Given the description of an element on the screen output the (x, y) to click on. 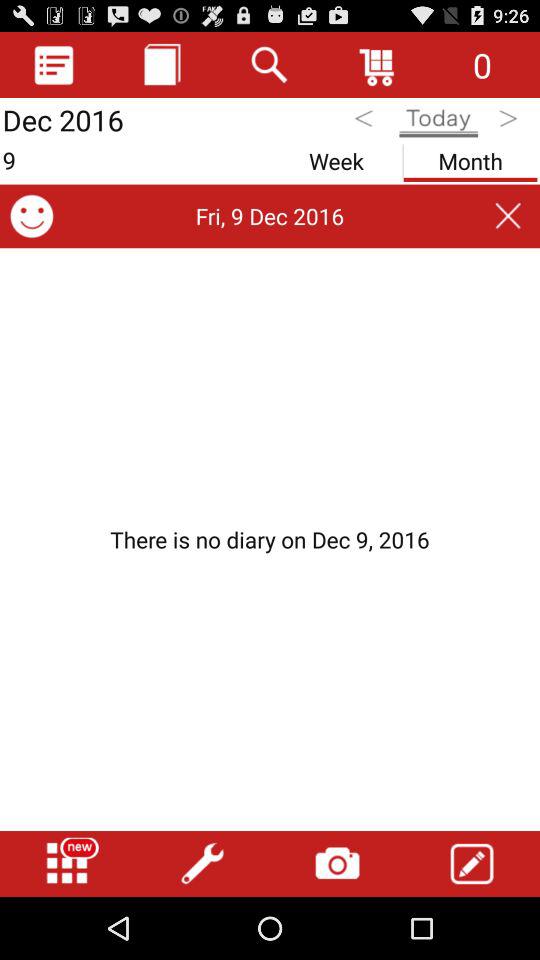
go to new (67, 863)
